Given the description of an element on the screen output the (x, y) to click on. 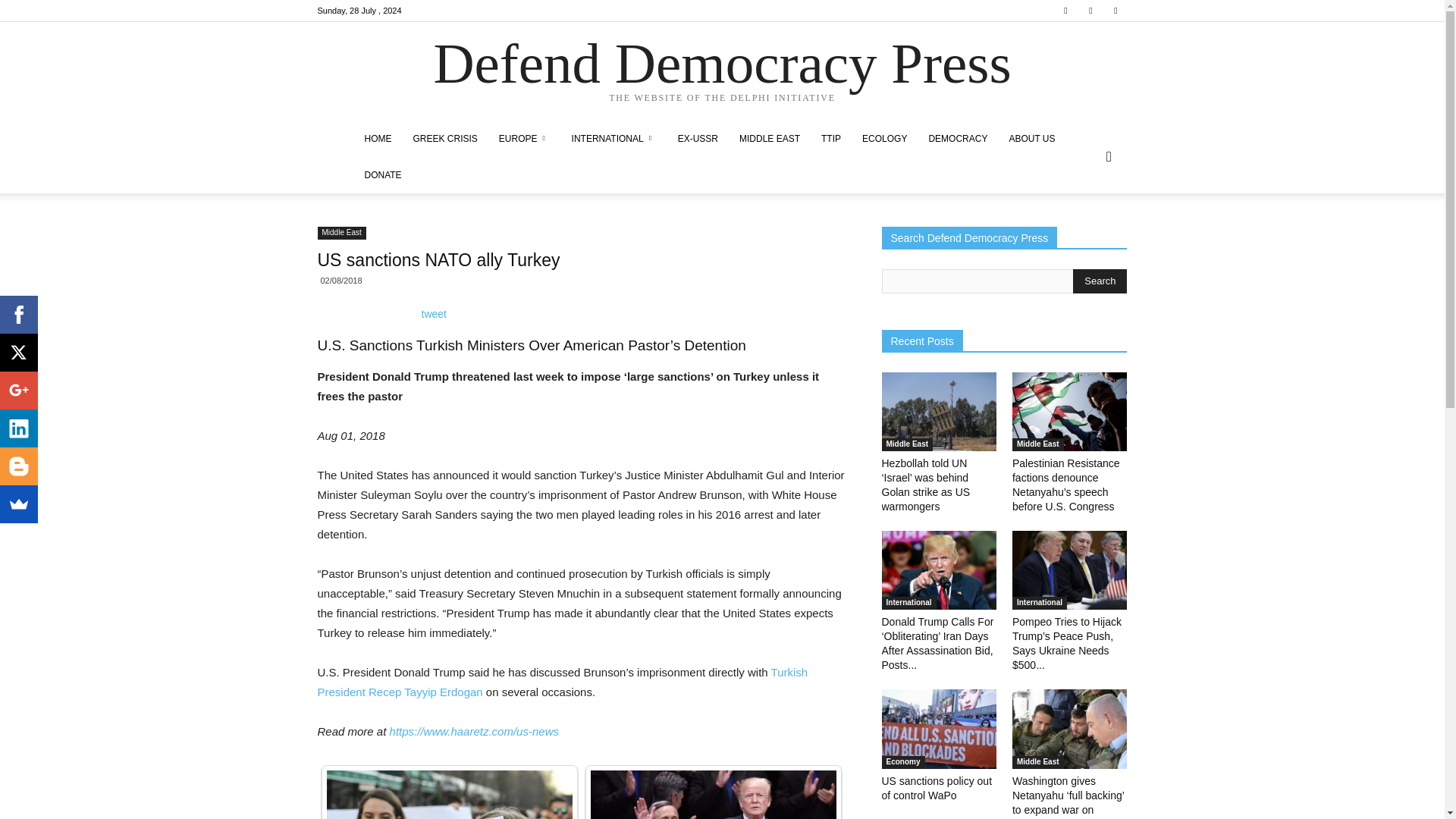
EUROPE (523, 138)
Facebook (1065, 10)
INTERNATIONAL (613, 138)
Defend Democracy Press THE WEBSITE OF THE DELPHI INITIATIVE (721, 72)
Founding the Great Israel, Launching War of Civiliazations (712, 794)
HOME (377, 138)
Twitter (1090, 10)
Turkey organizing kidnappings in Europe! (449, 794)
Youtube (1114, 10)
GREEK CRISIS (444, 138)
EX-USSR (697, 138)
Search (1099, 281)
